Given the description of an element on the screen output the (x, y) to click on. 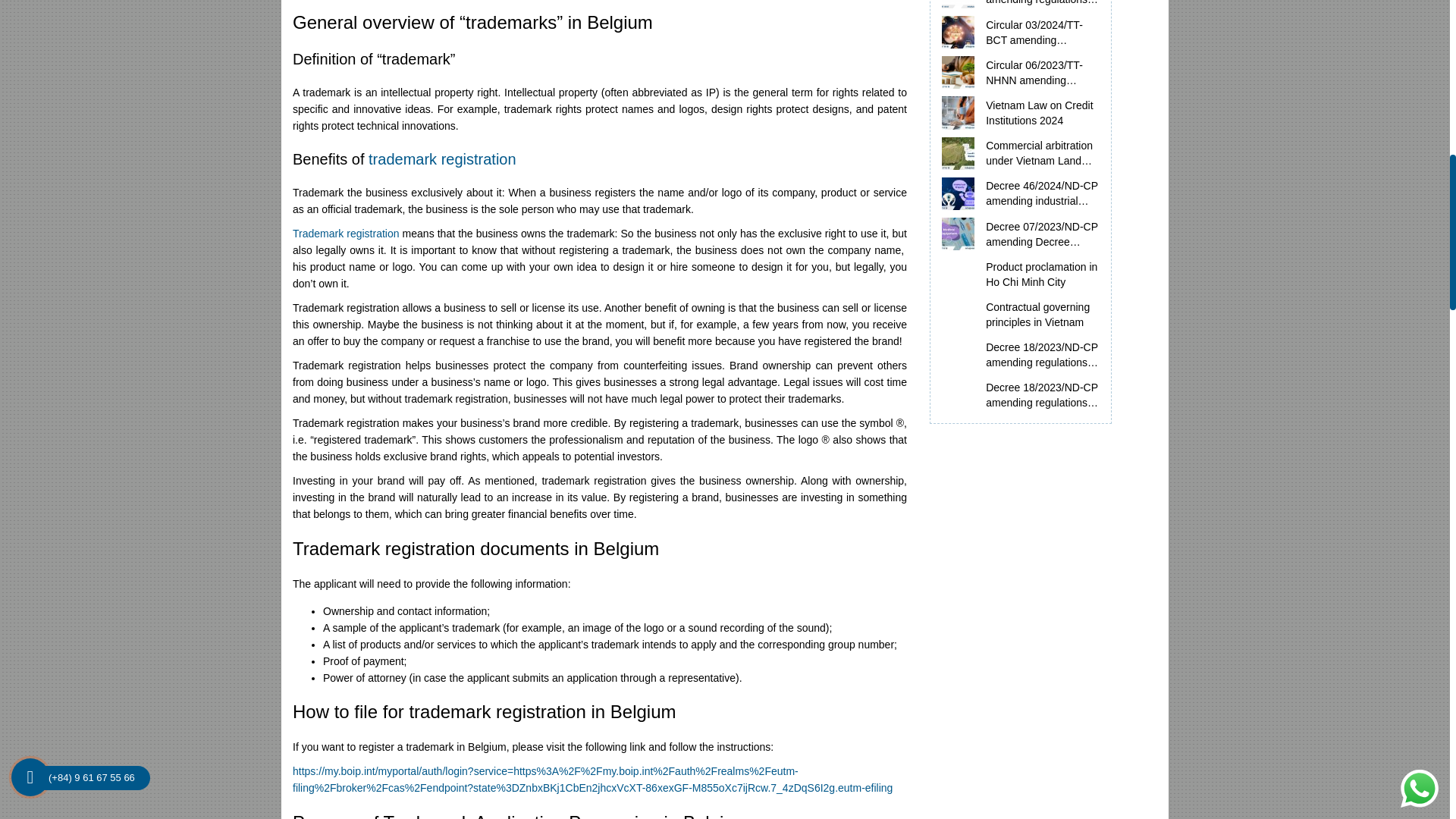
Trademark in Vietnam (442, 158)
trademark registration (442, 158)
Trademark in Vietnam (345, 233)
